Given the description of an element on the screen output the (x, y) to click on. 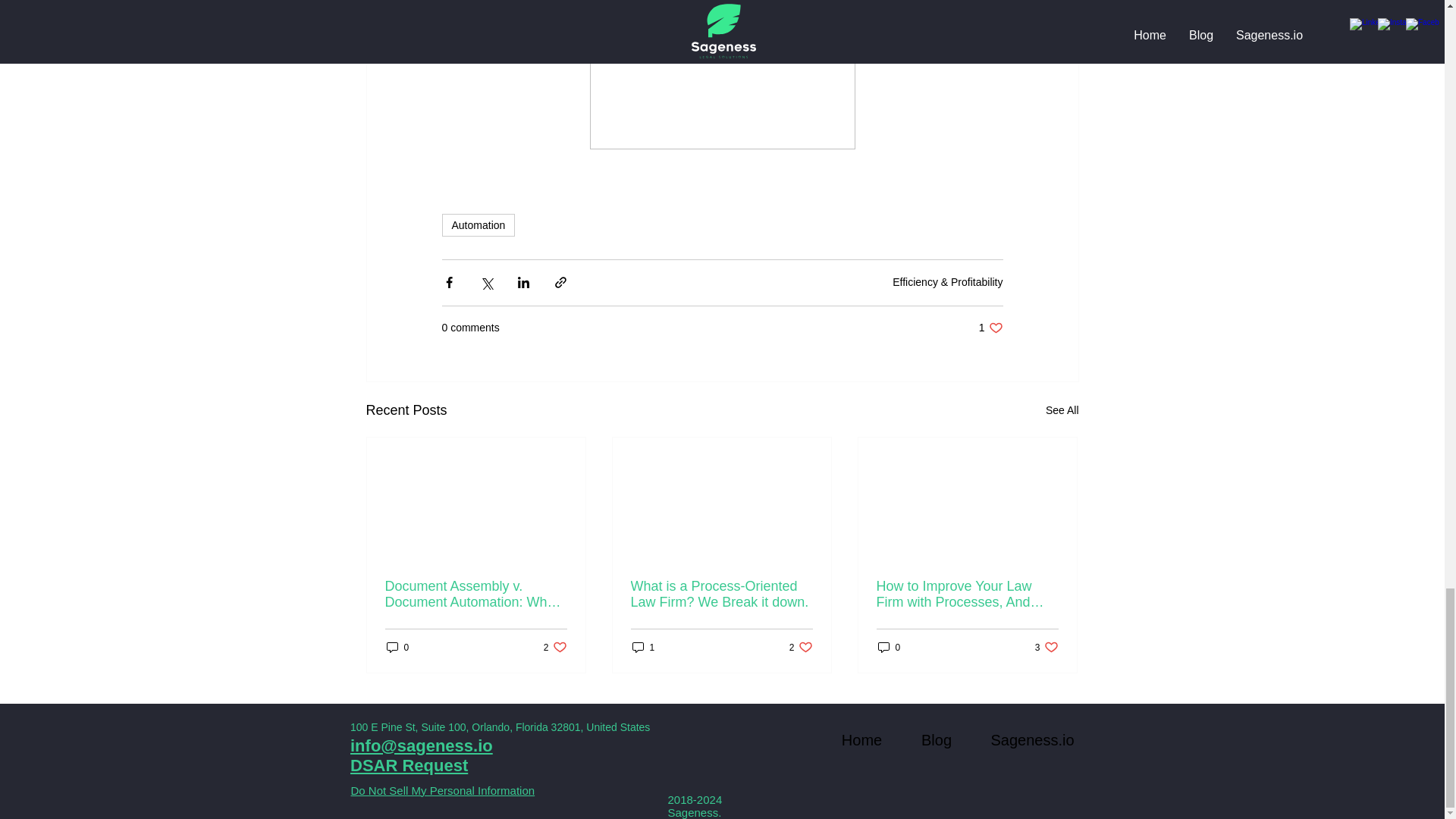
Automation (478, 224)
0 (397, 646)
1 (555, 646)
0 (1046, 646)
DSAR Request (643, 646)
See All (889, 646)
What is a Process-Oriented Law Firm? We Break it down. (408, 764)
